Given the description of an element on the screen output the (x, y) to click on. 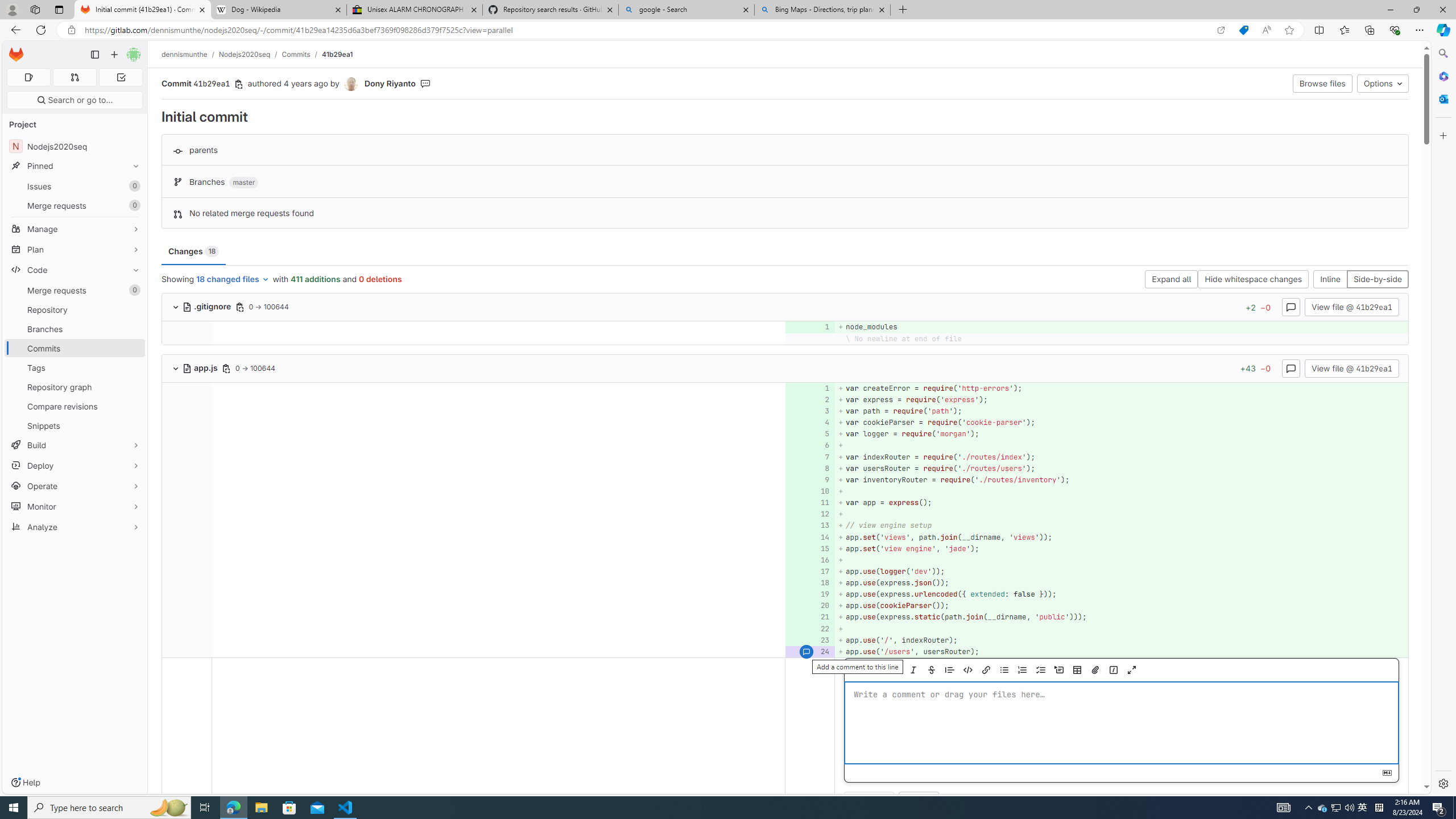
Class: notes_line new (809, 737)
Analyze (74, 526)
Dony Riyanto's avatar (351, 83)
Add a comment to this line 22 (809, 628)
Create new... (113, 54)
Branches (74, 328)
+ var path = require('path');  (1120, 410)
Unpin Issues (132, 186)
